Given the description of an element on the screen output the (x, y) to click on. 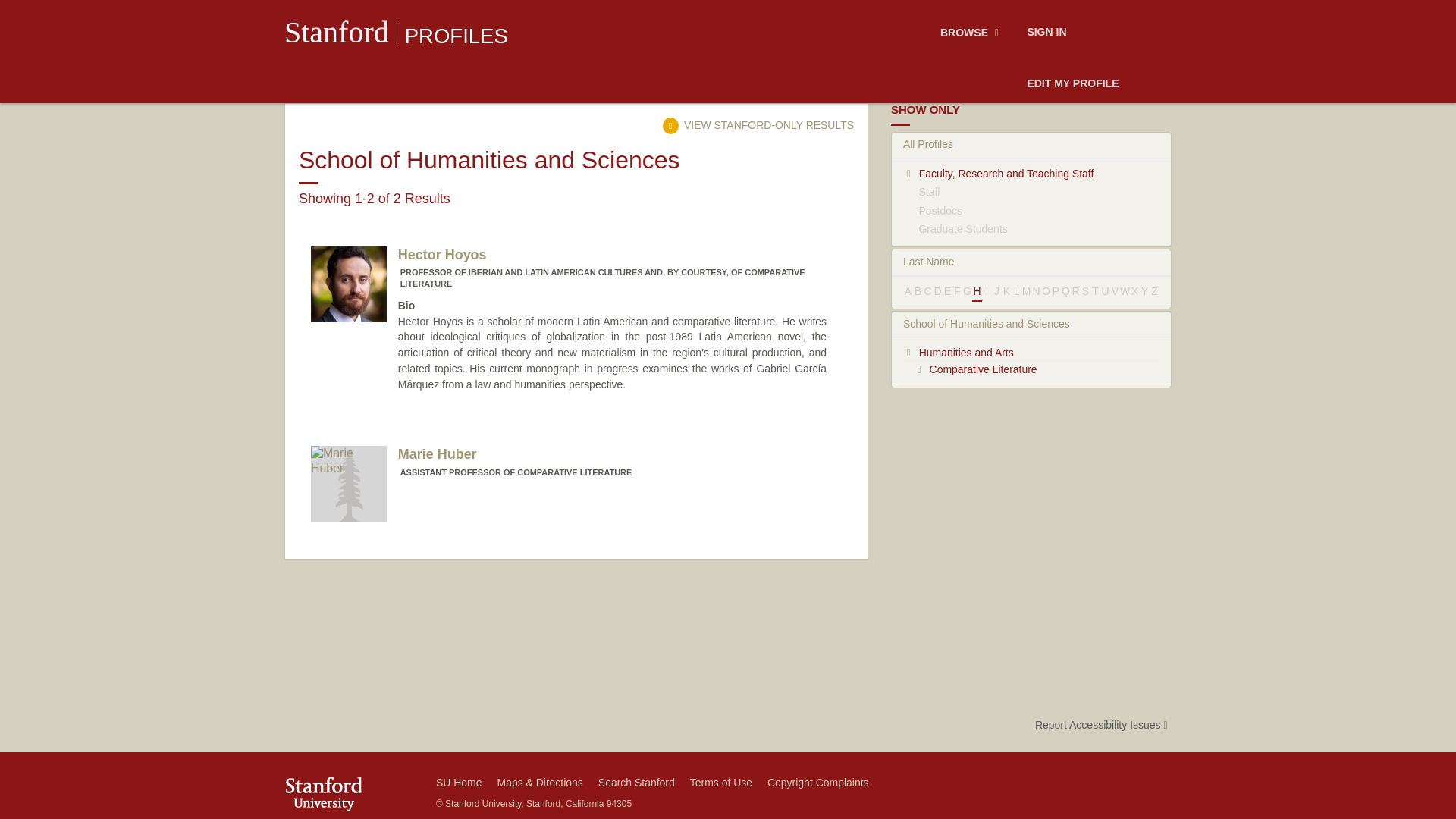
SIGN IN (1045, 32)
Stanford (335, 32)
EDIT MY PROFILE (569, 461)
VIEW STANFORD-ONLY RESULTS (1071, 84)
PROFILES (757, 124)
BROWSE (456, 35)
